Given the description of an element on the screen output the (x, y) to click on. 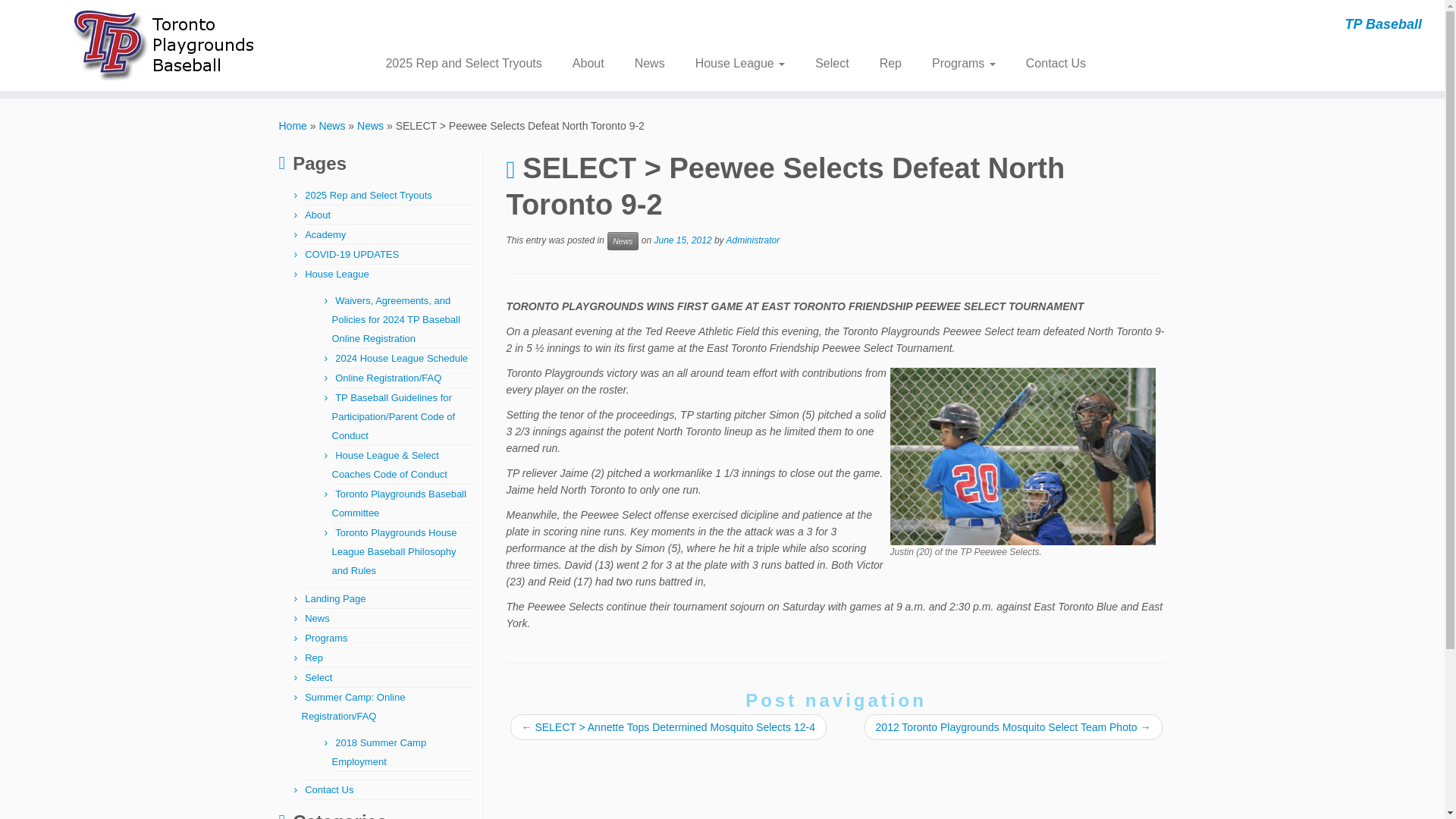
Home (293, 125)
Contact Us (1048, 62)
View all posts in News (622, 240)
News (649, 62)
2025 Rep and Select Tryouts (368, 194)
News (331, 125)
Rep (890, 62)
2018 Summer Camp Employment (378, 752)
COVID-19 UPDATES (351, 254)
Landing Page (334, 598)
Academy (325, 234)
Programs (963, 62)
2025 Rep and Select Tryouts (468, 62)
House League (739, 62)
Rep (313, 657)
